Given the description of an element on the screen output the (x, y) to click on. 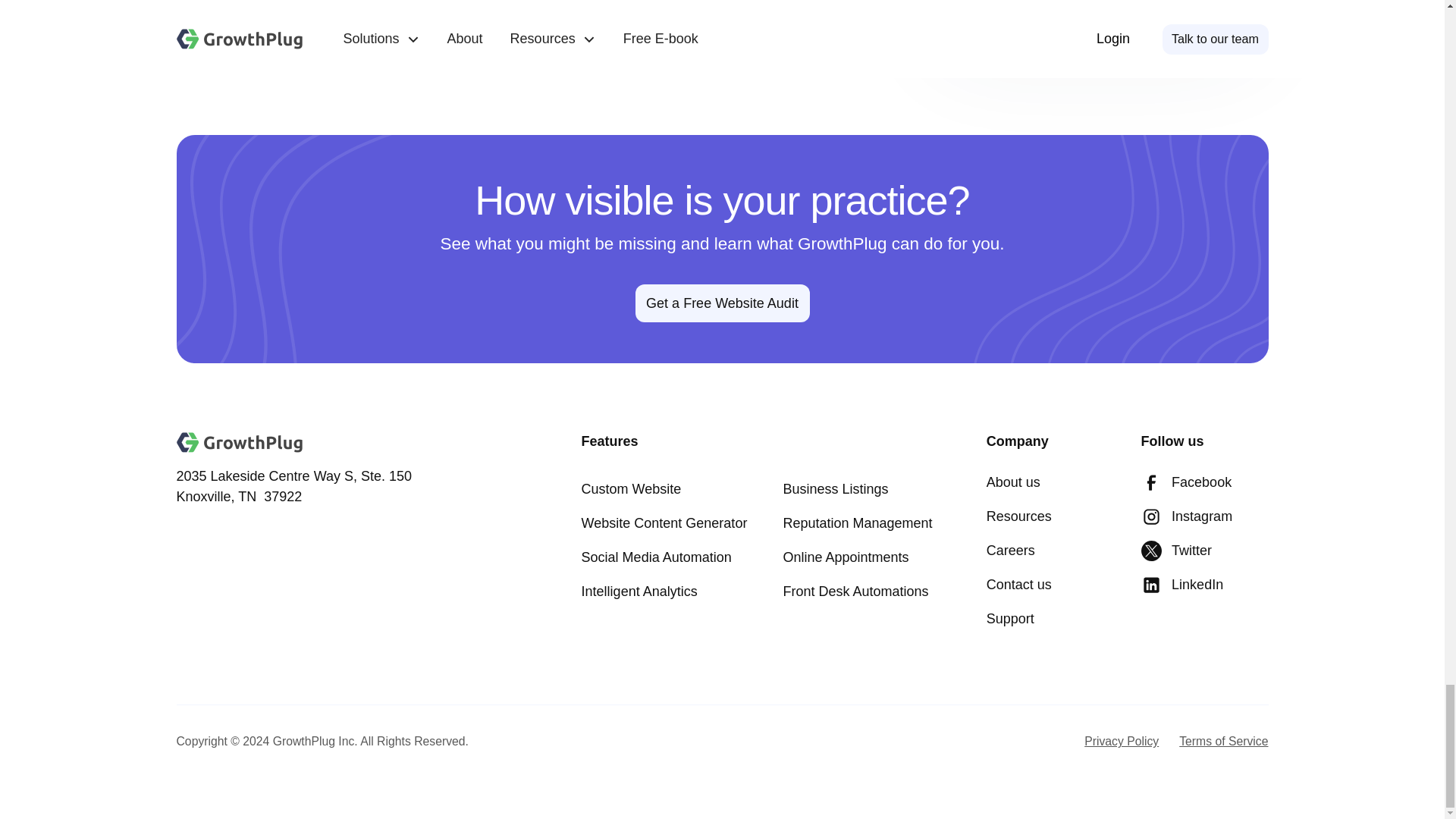
Custom Website (630, 489)
Website Content Generator (664, 523)
Social Media Automation (656, 557)
Intelligent Analytics (638, 591)
